Given the description of an element on the screen output the (x, y) to click on. 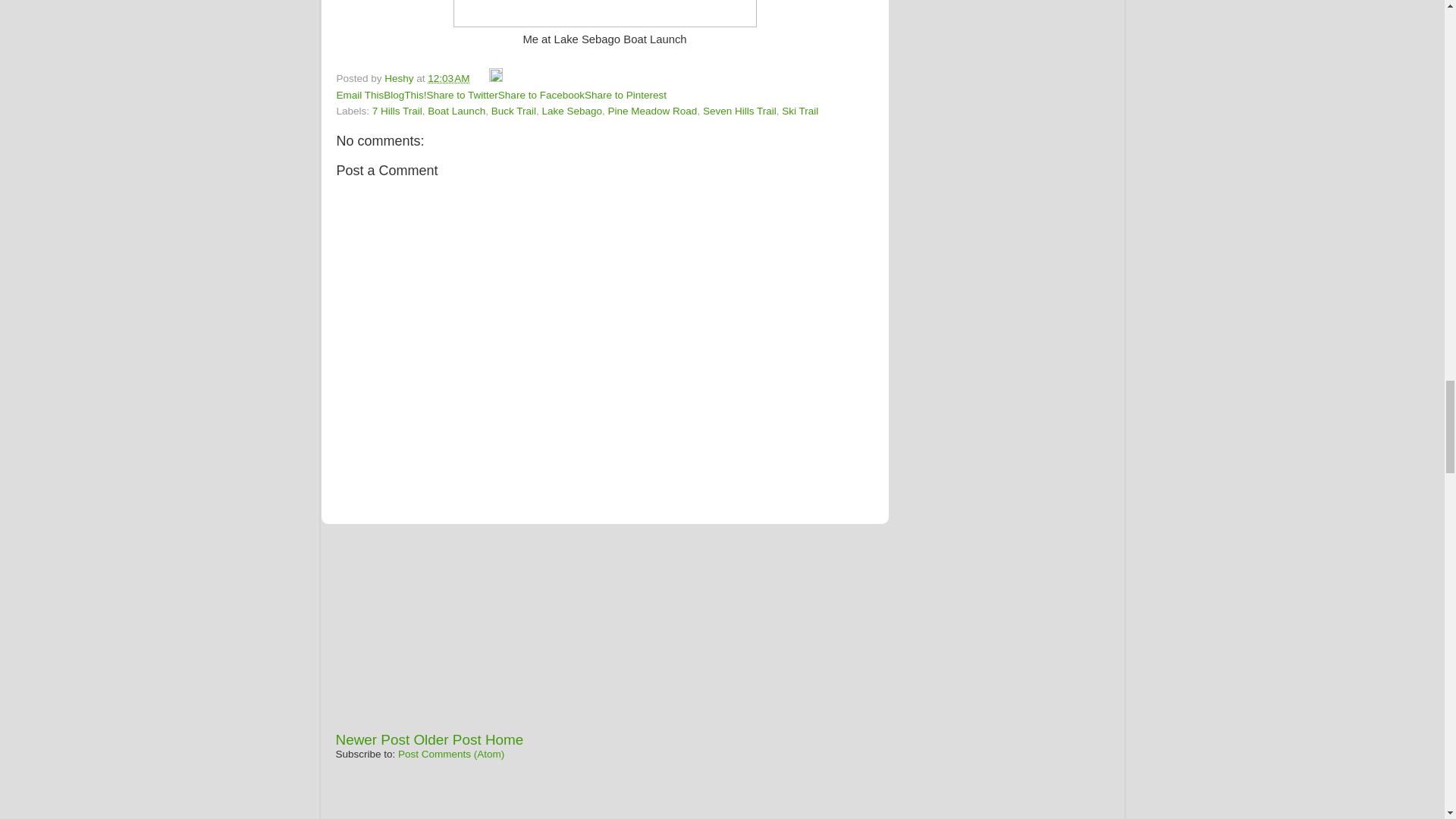
Share to Pinterest (625, 94)
Older Post (446, 739)
Email This (360, 94)
Share to Twitter (461, 94)
Lake Sebago (571, 111)
Share to Pinterest (625, 94)
permanent link (448, 78)
Pine Meadow Road (652, 111)
author profile (400, 78)
Heshy (400, 78)
Share to Twitter (461, 94)
Ski Trail (799, 111)
Edit Post (495, 78)
Boat Launch (456, 111)
Email This (360, 94)
